Given the description of an element on the screen output the (x, y) to click on. 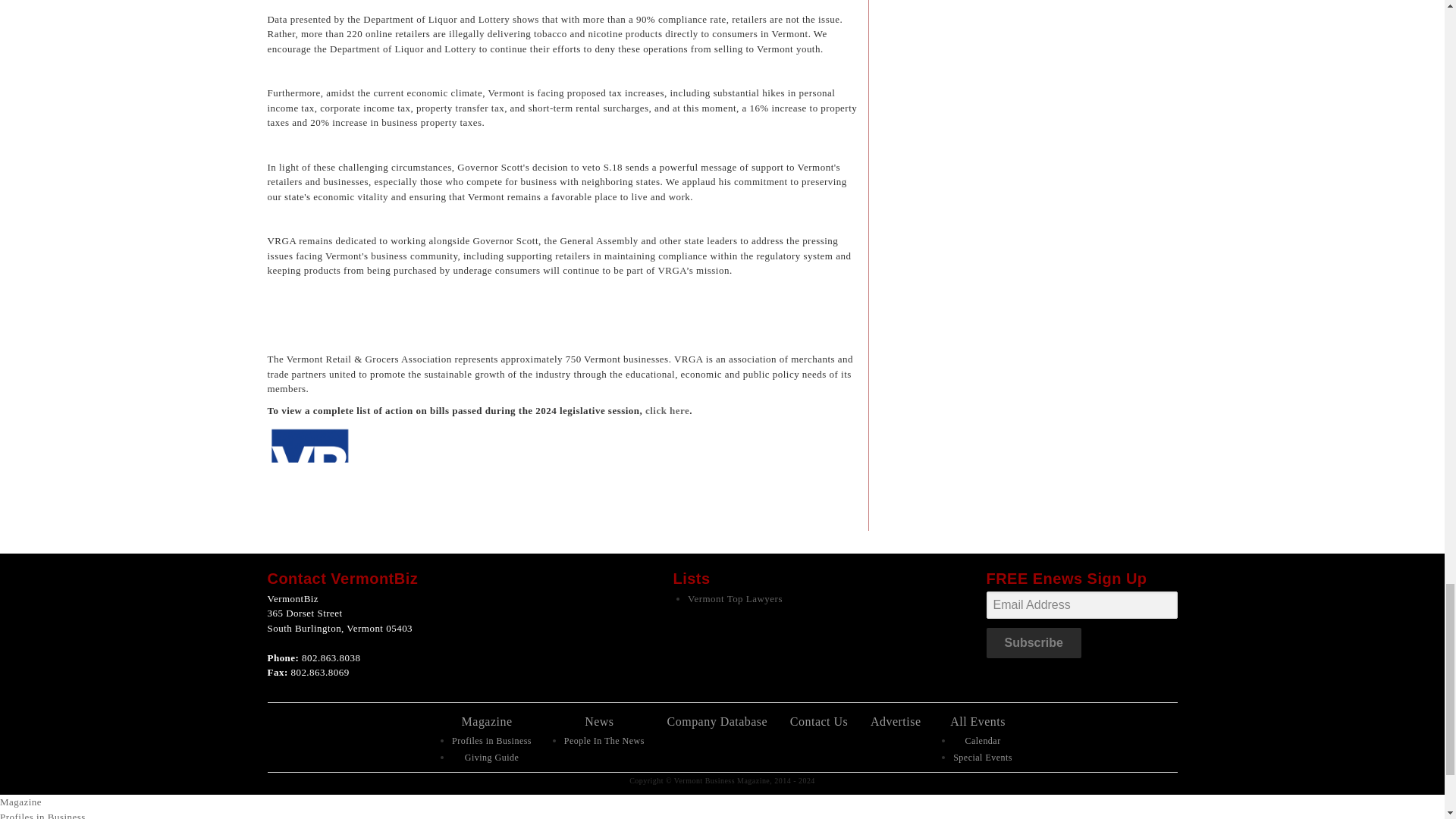
People In The News (604, 740)
Subscribe (1032, 643)
Profiles in Business (491, 740)
Company Database (717, 721)
Advertise (895, 721)
All Events (978, 721)
Giving Guide (491, 757)
Contact Us (818, 721)
Subscribe (1032, 643)
Vermont Top Lawyers (735, 598)
